Given the description of an element on the screen output the (x, y) to click on. 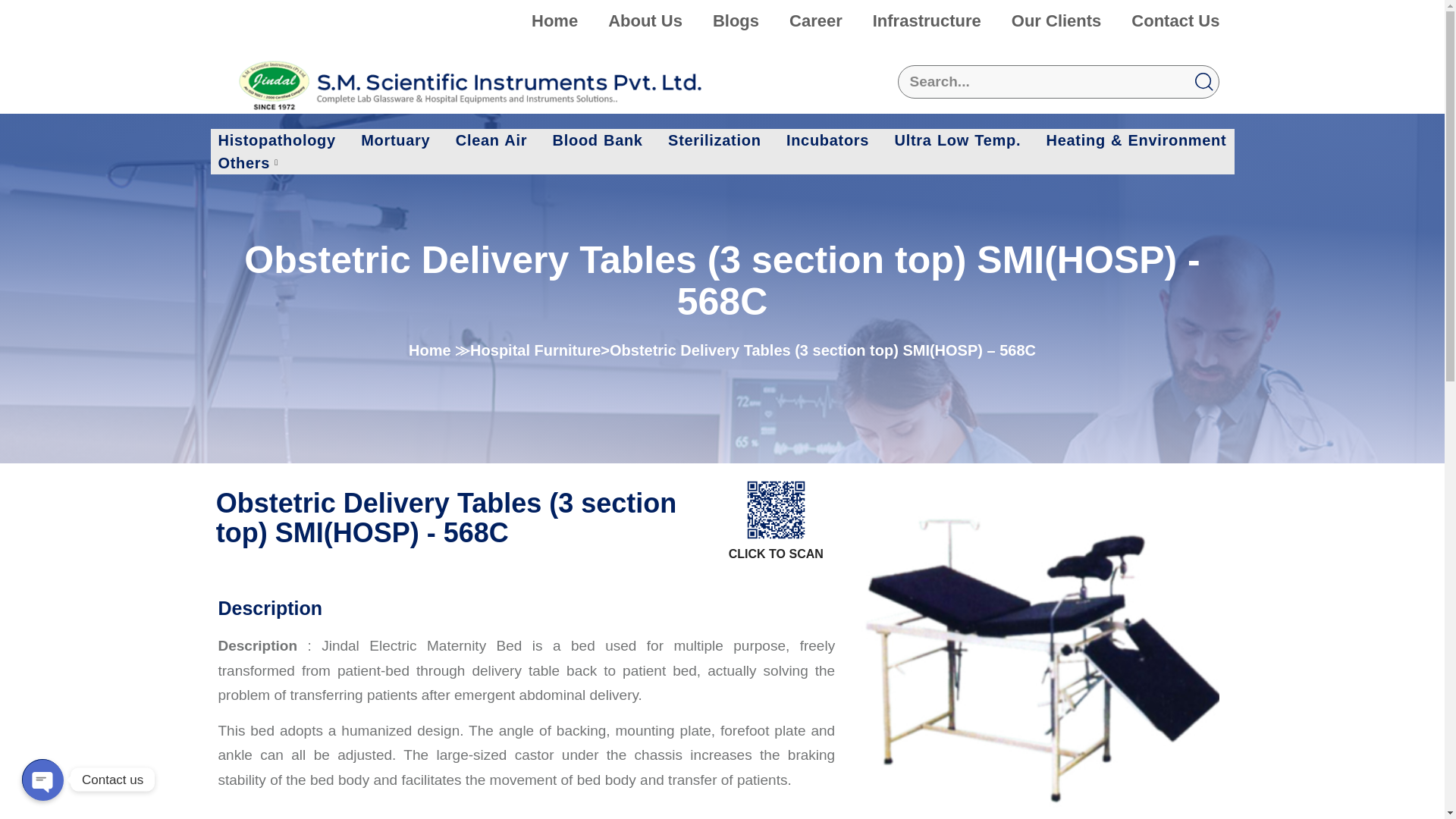
Blogs (735, 21)
Career (815, 21)
Contact Us (1175, 21)
Search (1059, 81)
Infrastructure (926, 21)
Home (554, 21)
Our Clients (1055, 21)
About Us (644, 21)
